Given the description of an element on the screen output the (x, y) to click on. 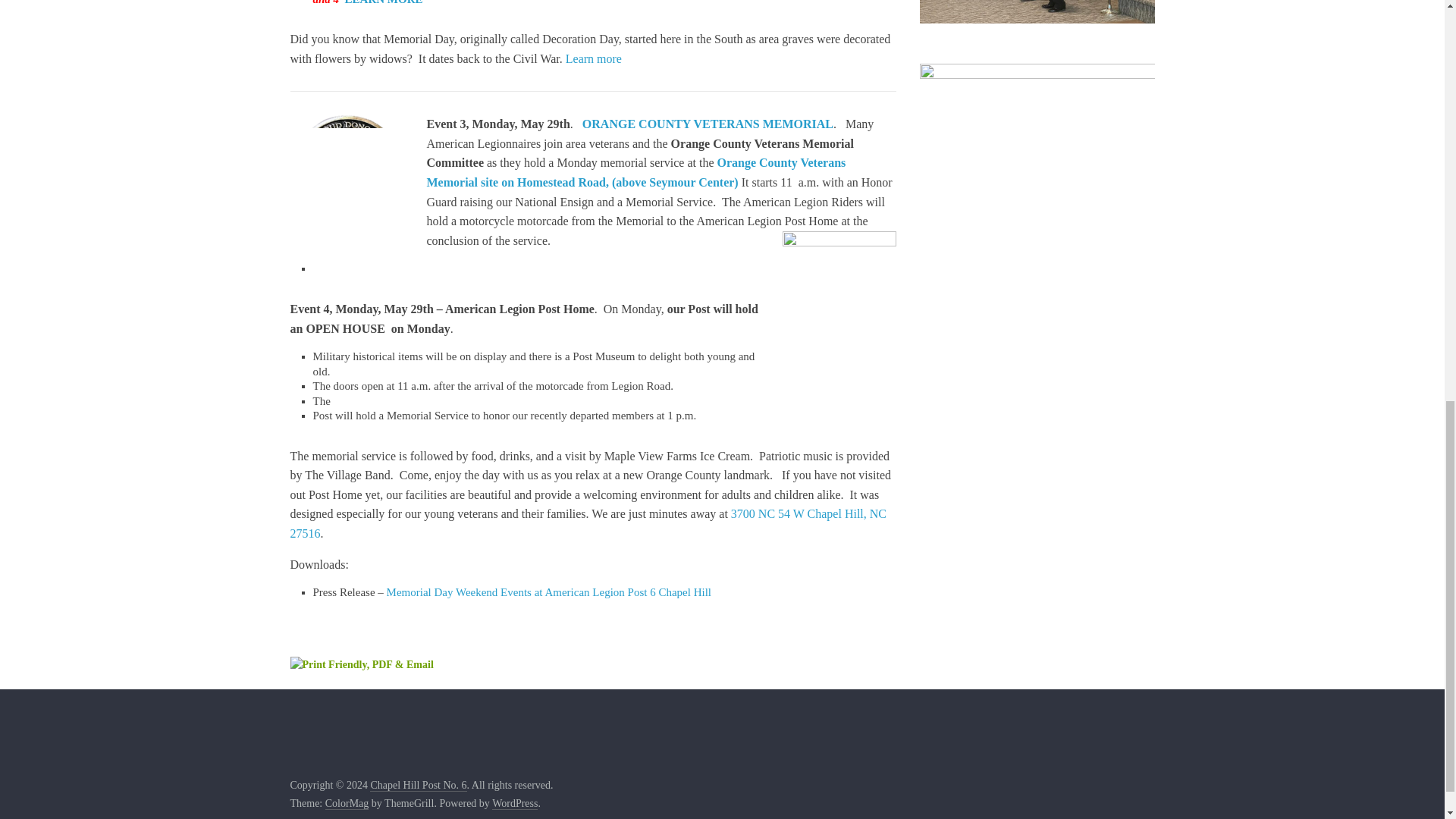
WordPress (514, 803)
ColorMag (346, 803)
Chapel Hill Post No. 6 (417, 785)
